Given the description of an element on the screen output the (x, y) to click on. 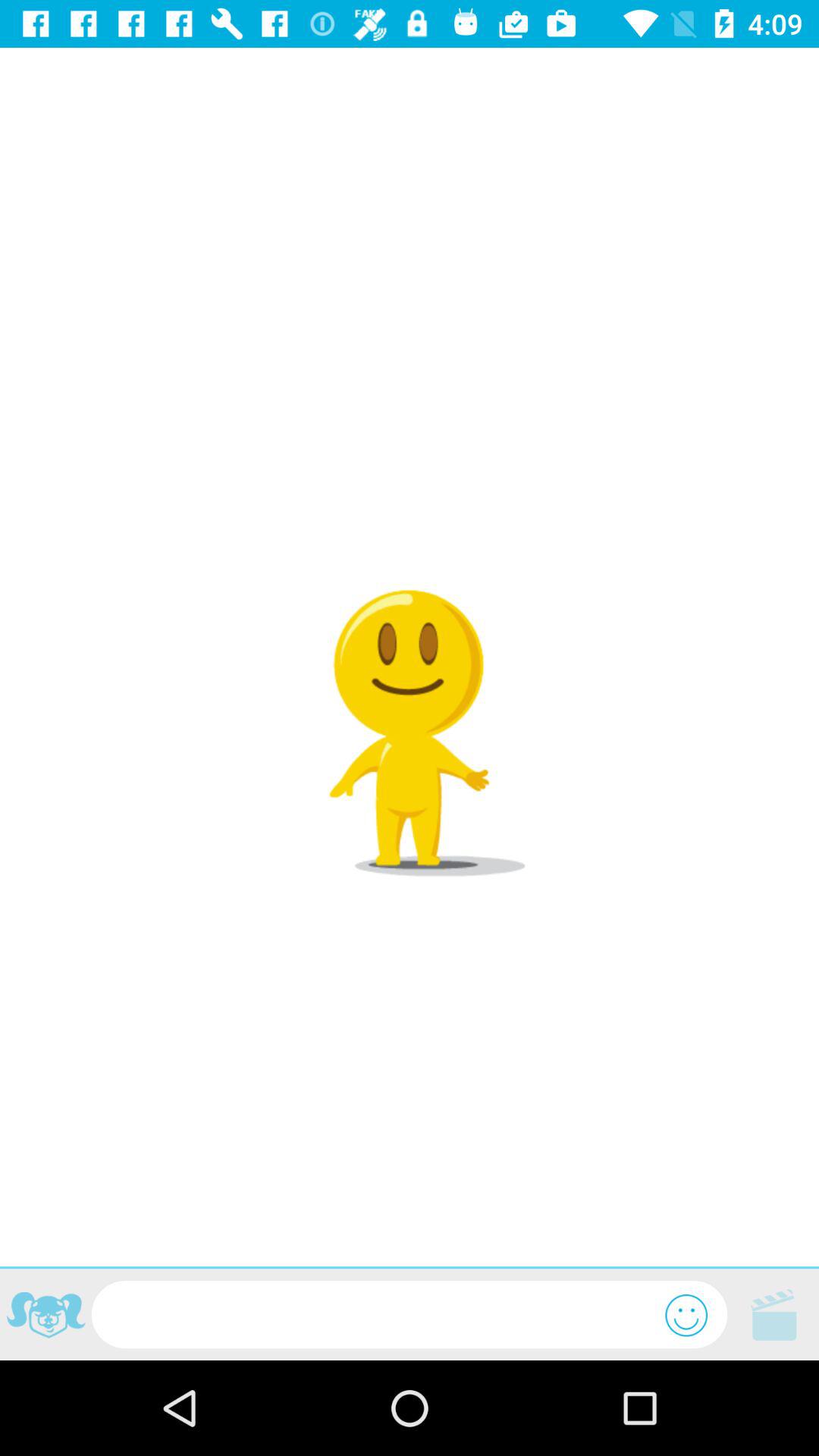
shows video icon (773, 1314)
